Given the description of an element on the screen output the (x, y) to click on. 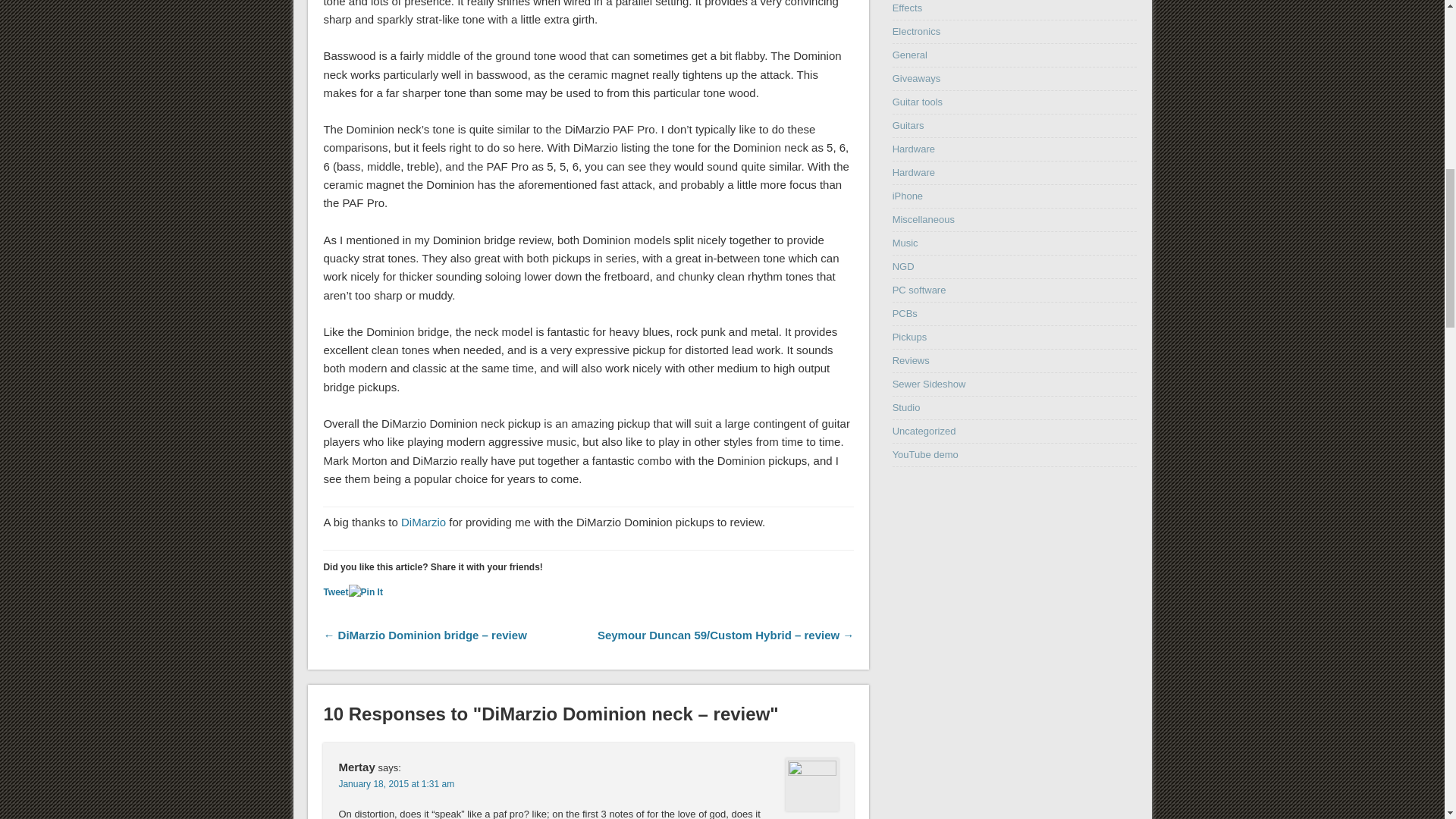
Tweet (335, 592)
DiMarzio (423, 521)
January 18, 2015 at 1:31 am (395, 783)
Pin It (365, 592)
